Given the description of an element on the screen output the (x, y) to click on. 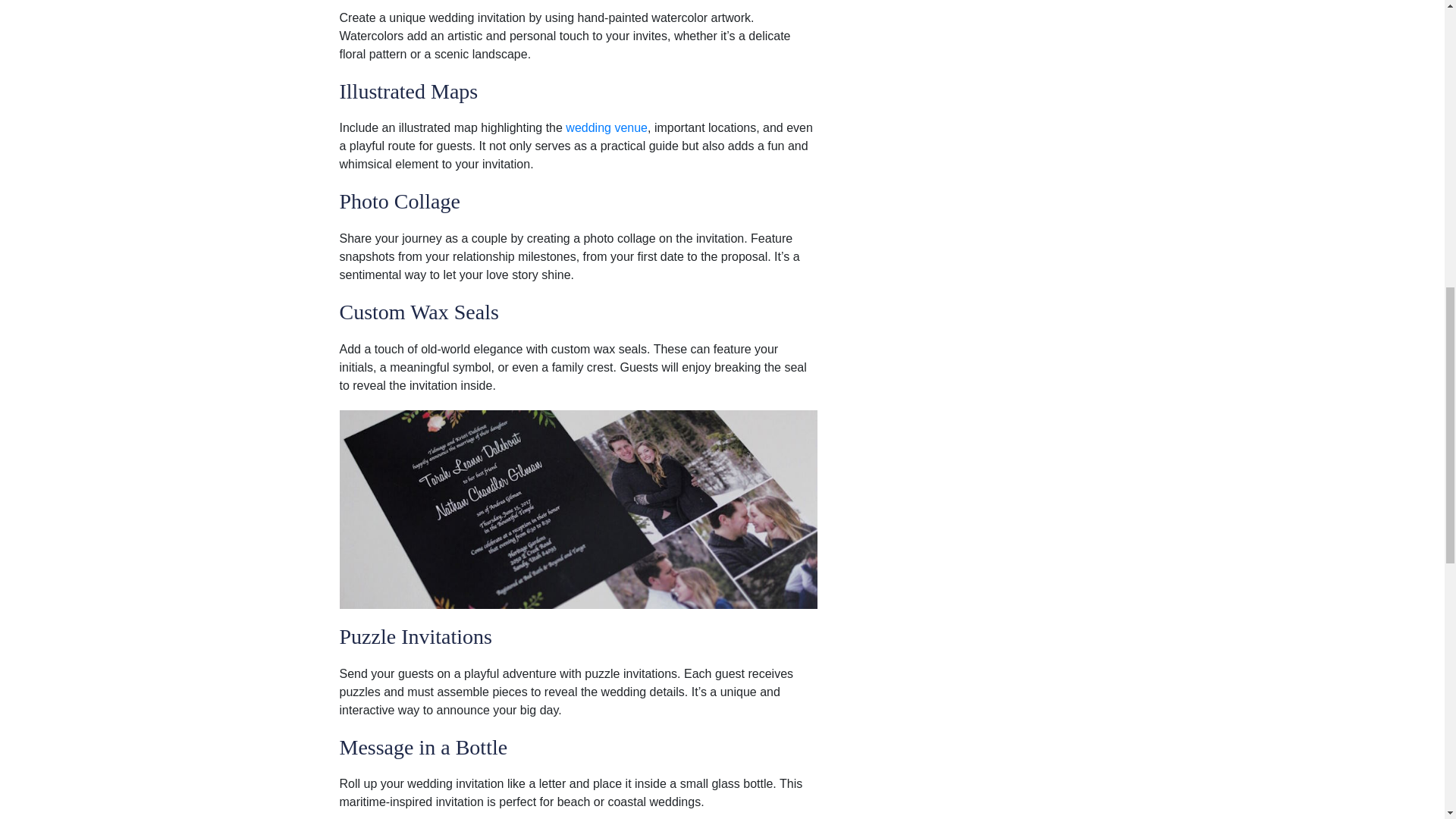
wedding venue (606, 127)
